Given the description of an element on the screen output the (x, y) to click on. 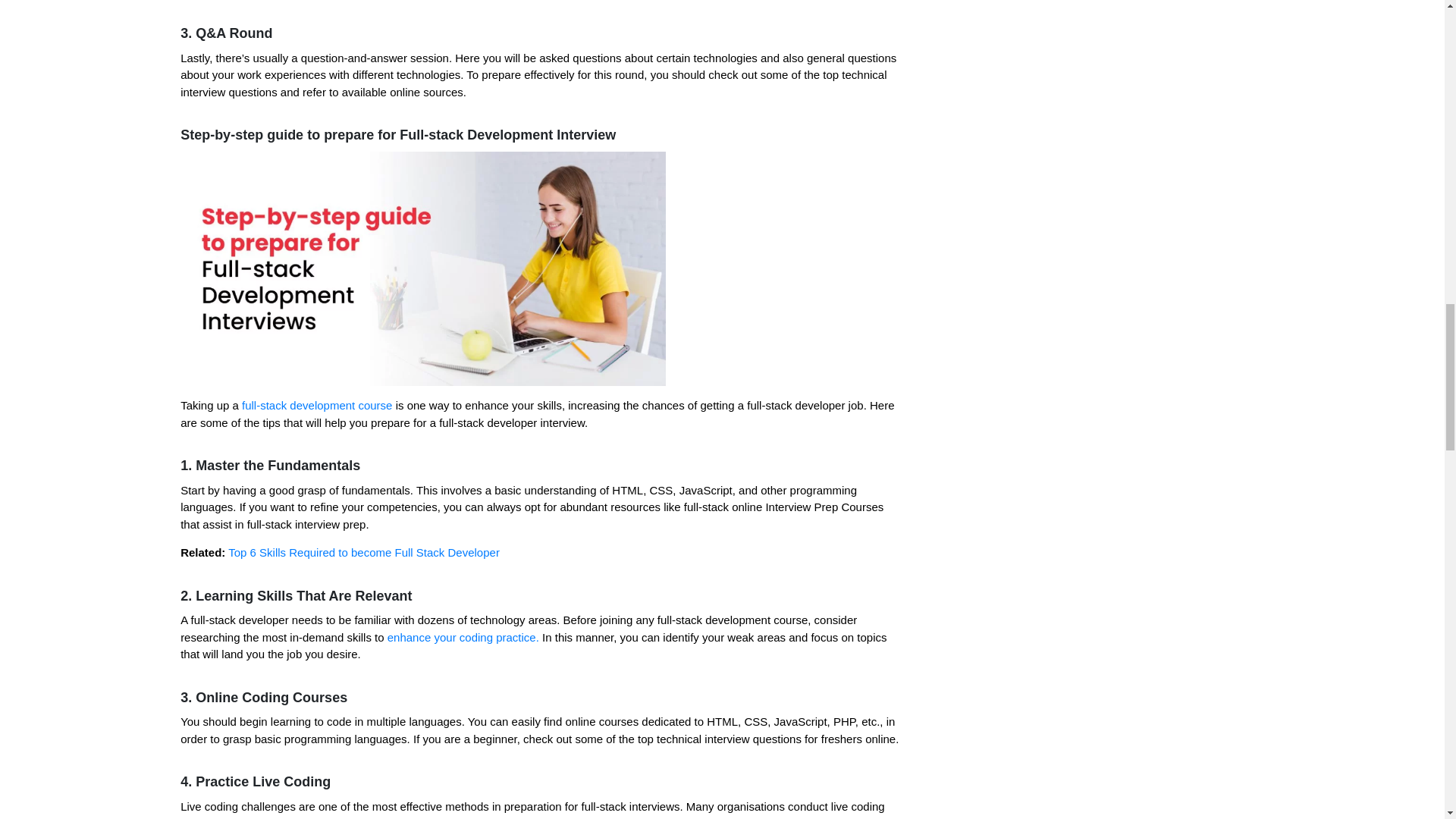
Top 6 Skills Required to become Full Stack Developer (363, 552)
full-stack development course (318, 404)
enhance your coding practice. (462, 636)
